Given the description of an element on the screen output the (x, y) to click on. 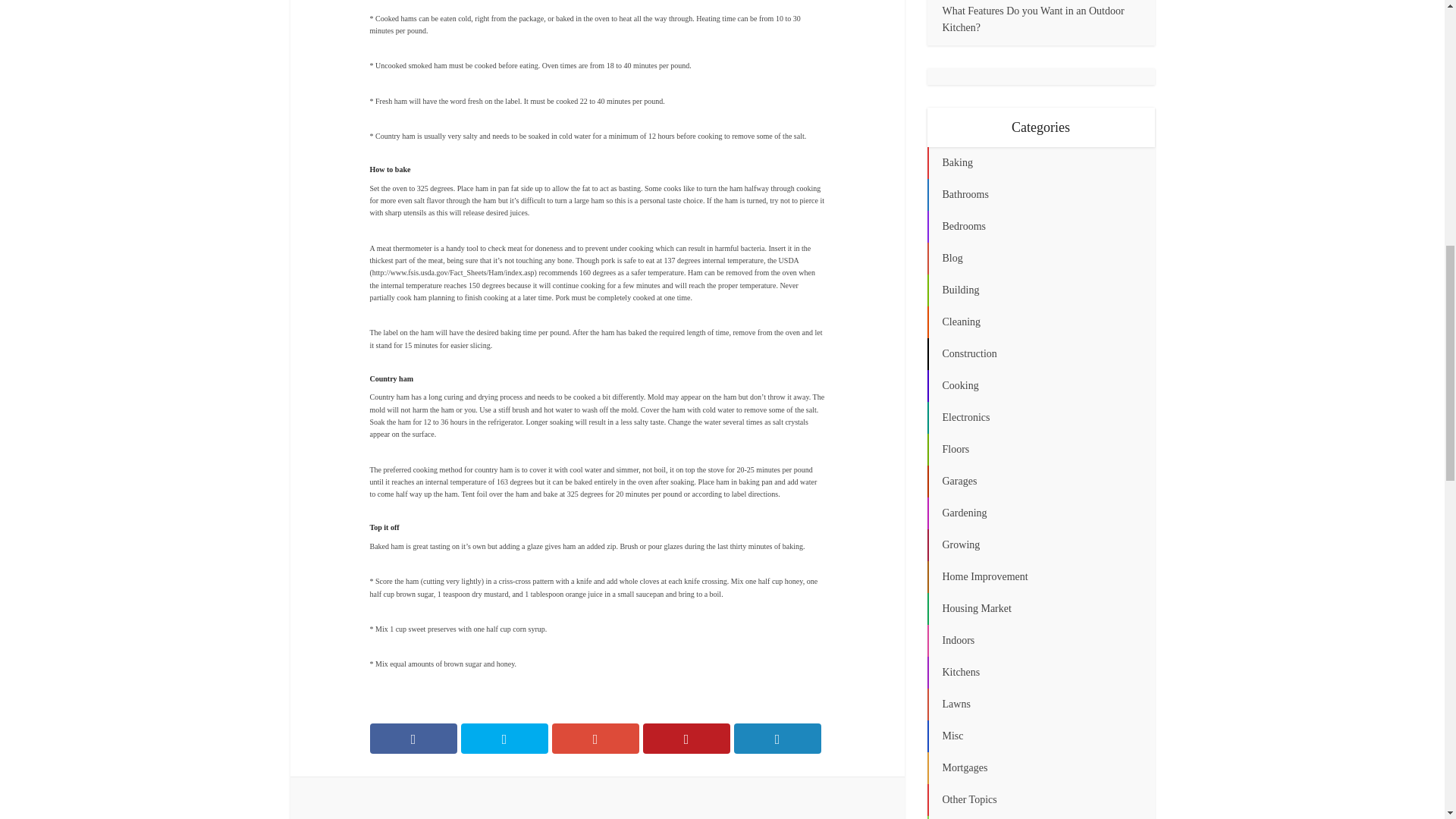
How to Bake Lasagna? (446, 805)
How to Bake a Duck? (742, 805)
